Given the description of an element on the screen output the (x, y) to click on. 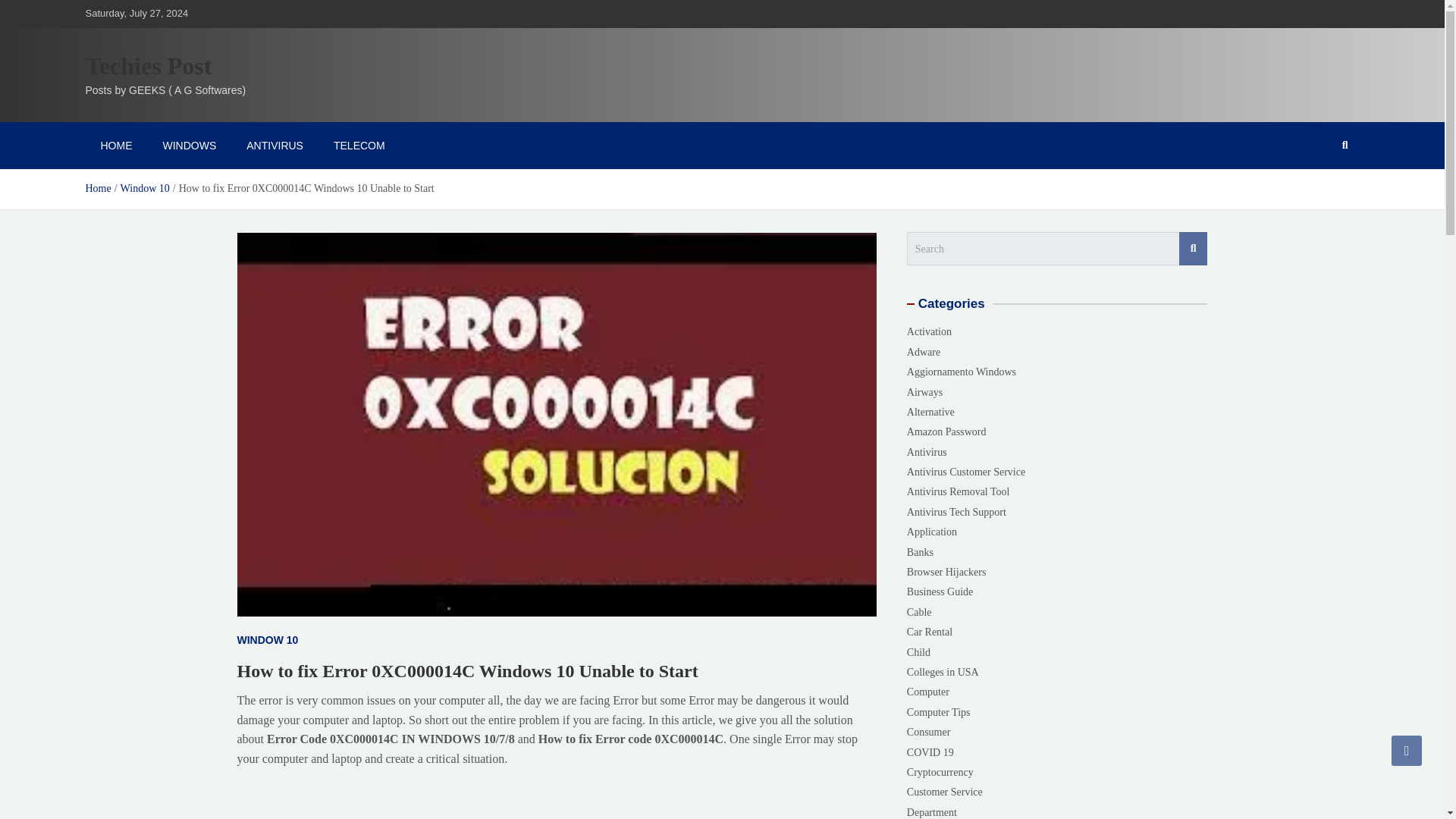
Home (97, 188)
Antivirus (927, 451)
Go to Top (1406, 750)
WINDOWS (189, 145)
Aggiornamento Windows (961, 371)
Window 10 (145, 188)
ANTIVIRUS (274, 145)
Techies Post (147, 65)
TELECOM (359, 145)
Airways (924, 392)
Activation (929, 332)
Antivirus Removal Tool (958, 491)
Antivirus Customer Service (966, 471)
Amazon Password (947, 432)
WINDOW 10 (266, 639)
